Given the description of an element on the screen output the (x, y) to click on. 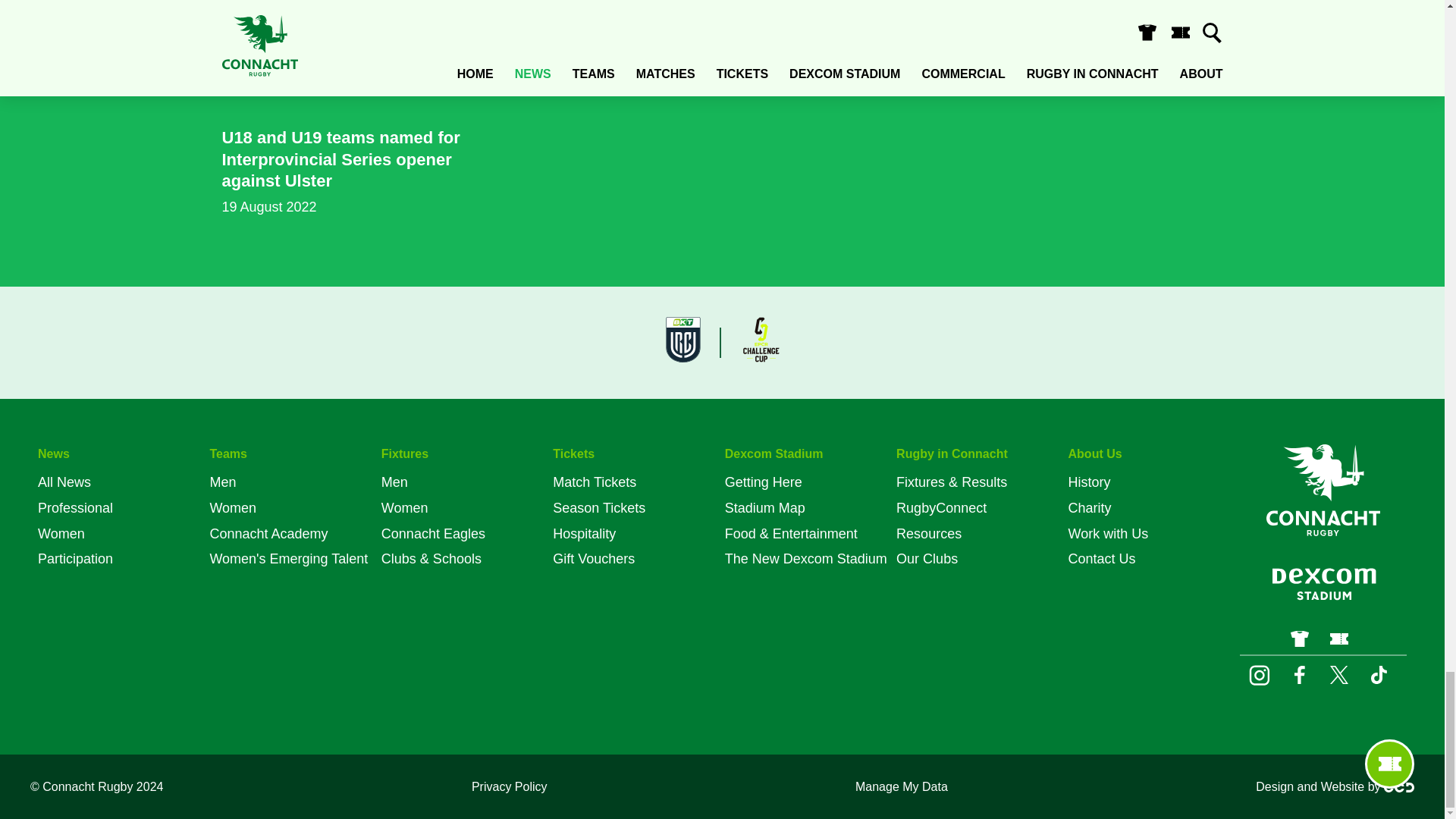
Dexcom Logo (1323, 583)
Privacy Policy (512, 786)
Connacht Rugby Logo (1323, 490)
Manage My Data (905, 786)
